Given the description of an element on the screen output the (x, y) to click on. 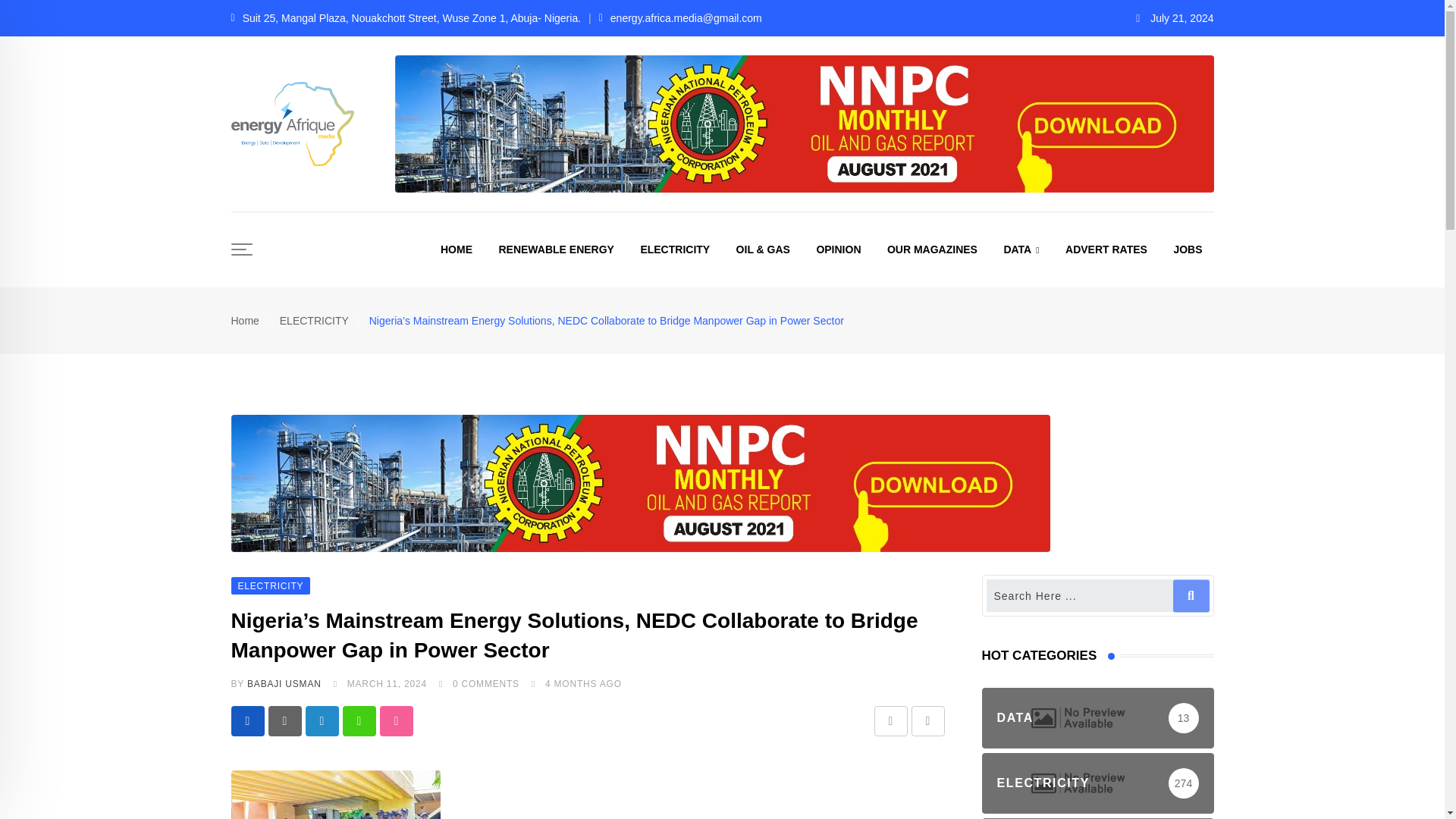
ADVERT RATES (1106, 249)
ELECTRICITY (674, 249)
OPINION (838, 249)
Posts by Babaji Usman (284, 683)
RENEWABLE ENERGY (555, 249)
OUR MAGAZINES (932, 249)
